Given the description of an element on the screen output the (x, y) to click on. 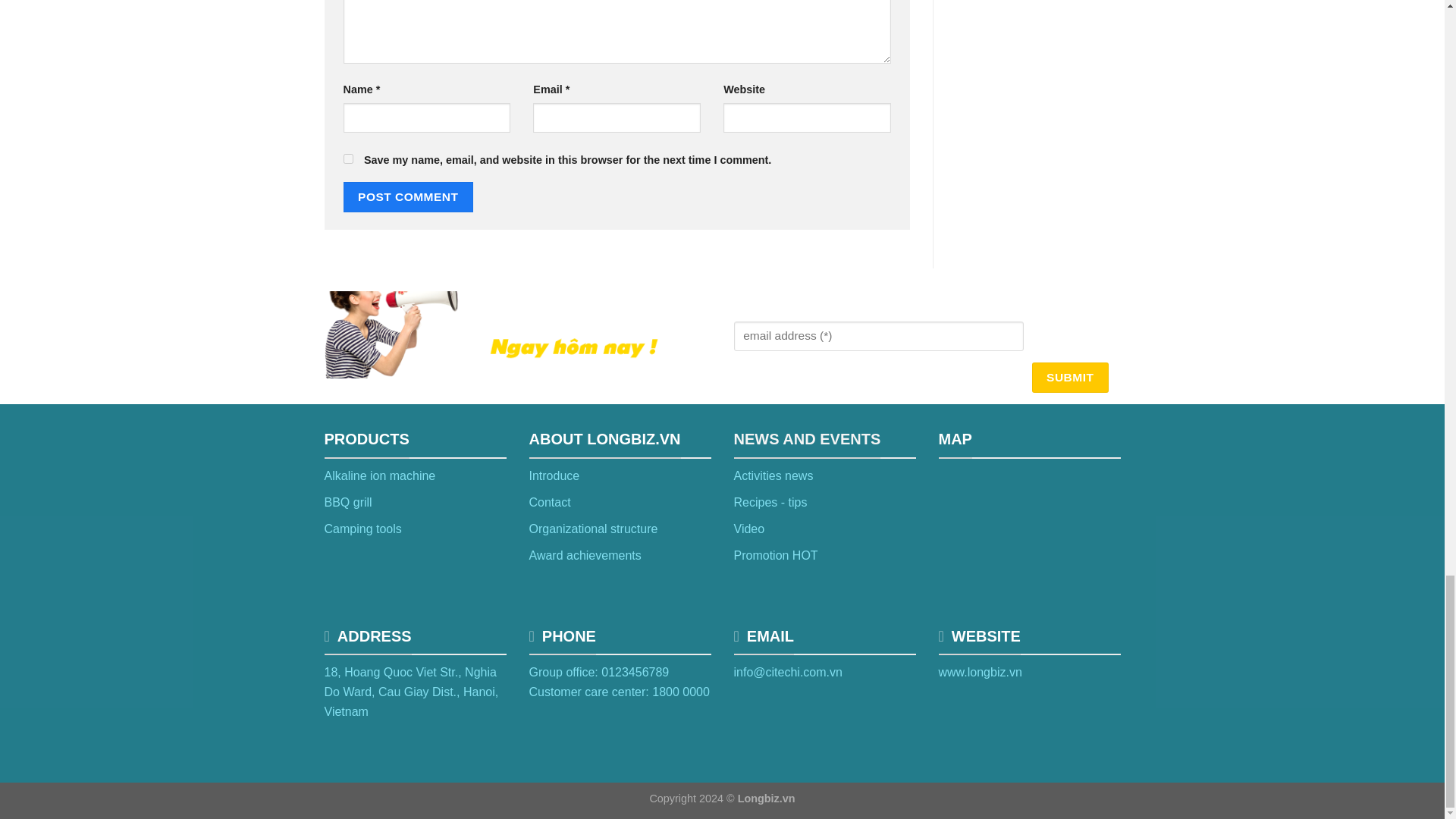
submit (1069, 377)
yes (347, 158)
Post Comment (407, 196)
